Given the description of an element on the screen output the (x, y) to click on. 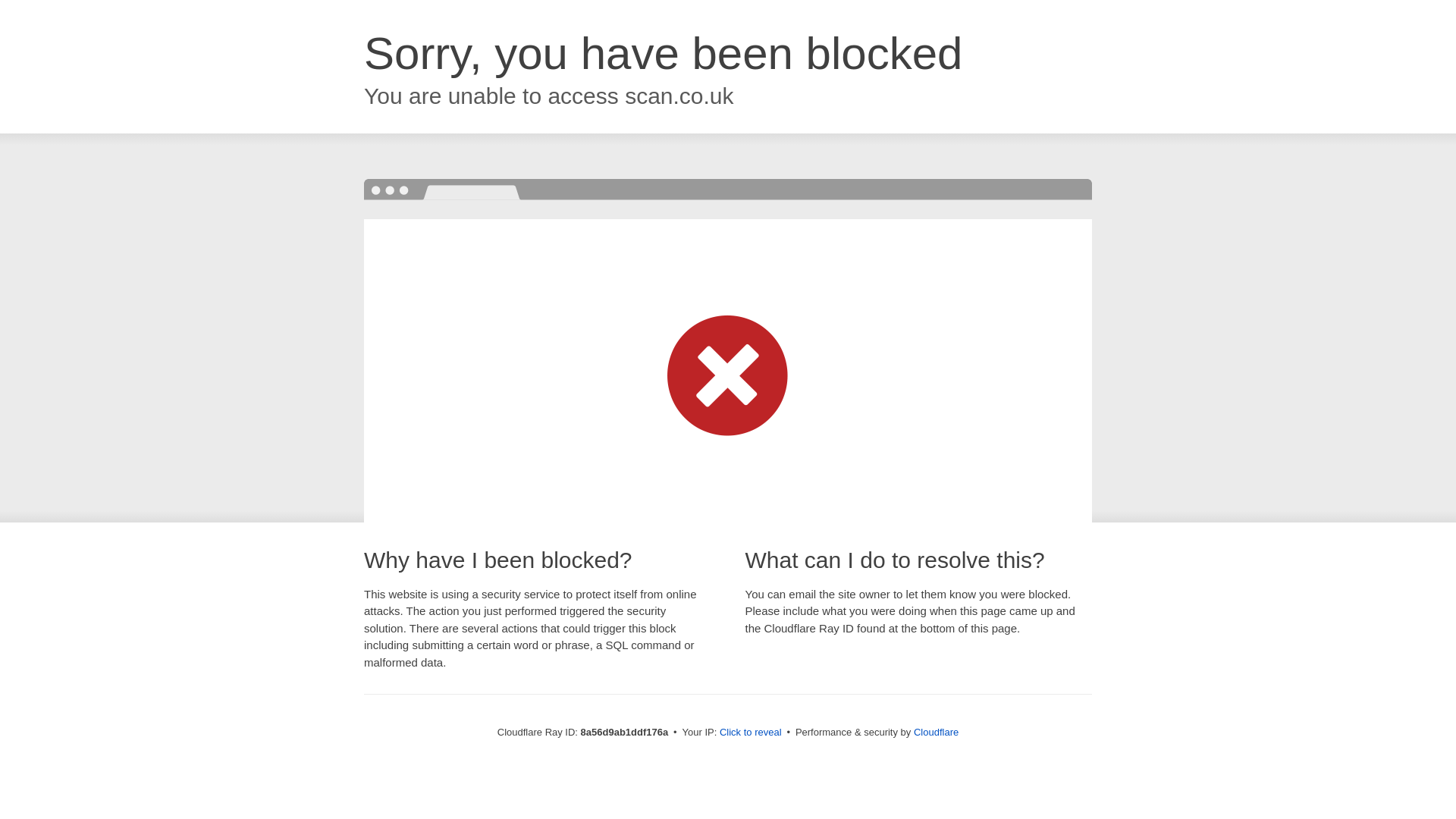
Click to reveal (750, 732)
Cloudflare (936, 731)
